Given the description of an element on the screen output the (x, y) to click on. 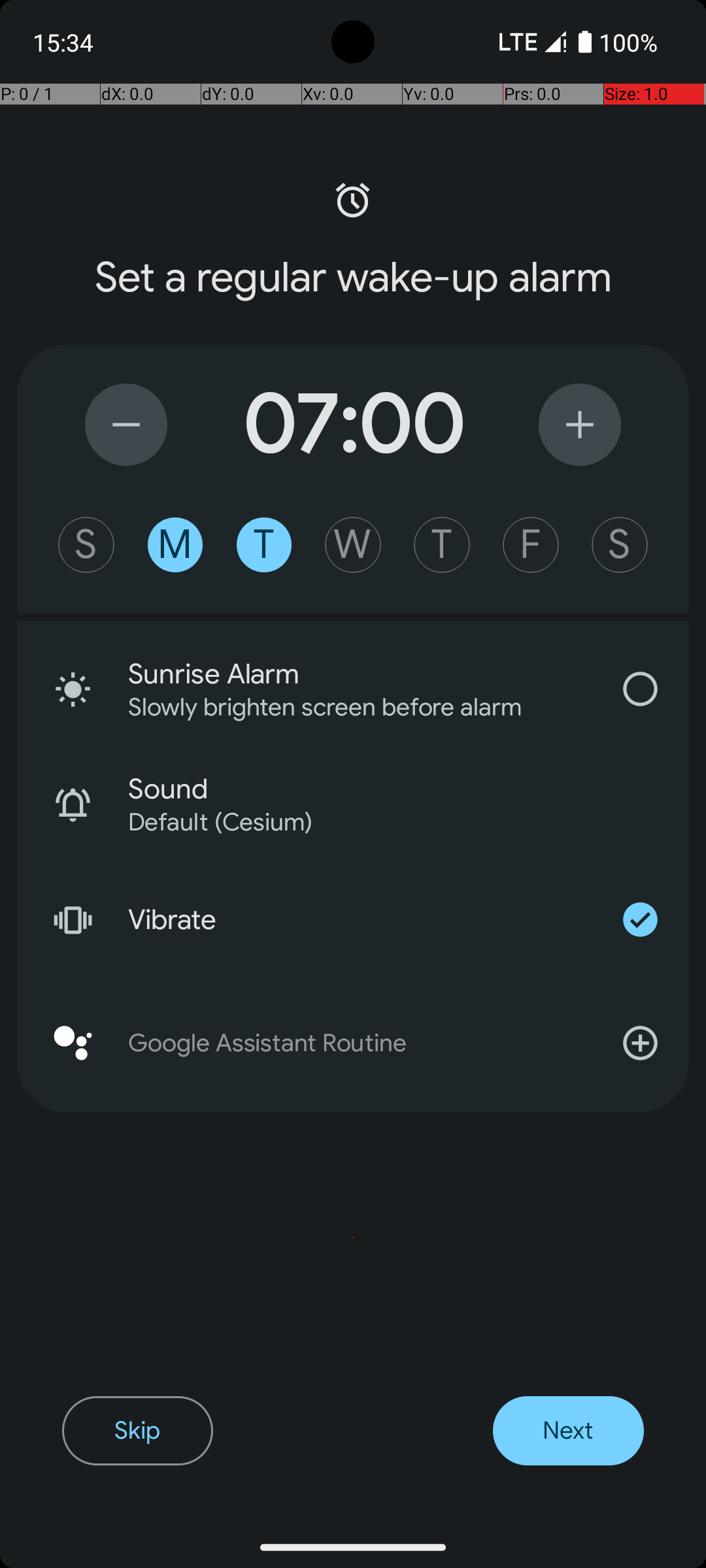
Set a regular wake-up alarm Element type: android.widget.TextView (352, 277)
Fifteen minutes earlier Element type: android.widget.ImageView (125, 424)
07:00 Element type: android.widget.TextView (353, 424)
Fifteen minutes later Element type: android.widget.ImageView (579, 424)
Google Assistant Routine Element type: android.widget.TextView (352, 1043)
Skip Element type: android.widget.Button (137, 1430)
Sunrise Alarm Element type: android.widget.TextView (360, 673)
Slowly brighten screen before alarm Element type: android.widget.TextView (342, 706)
Sound Element type: android.widget.TextView (408, 788)
Default (Cesium) Element type: android.widget.TextView (390, 821)
Vibrate Element type: android.widget.TextView (360, 919)
